Given the description of an element on the screen output the (x, y) to click on. 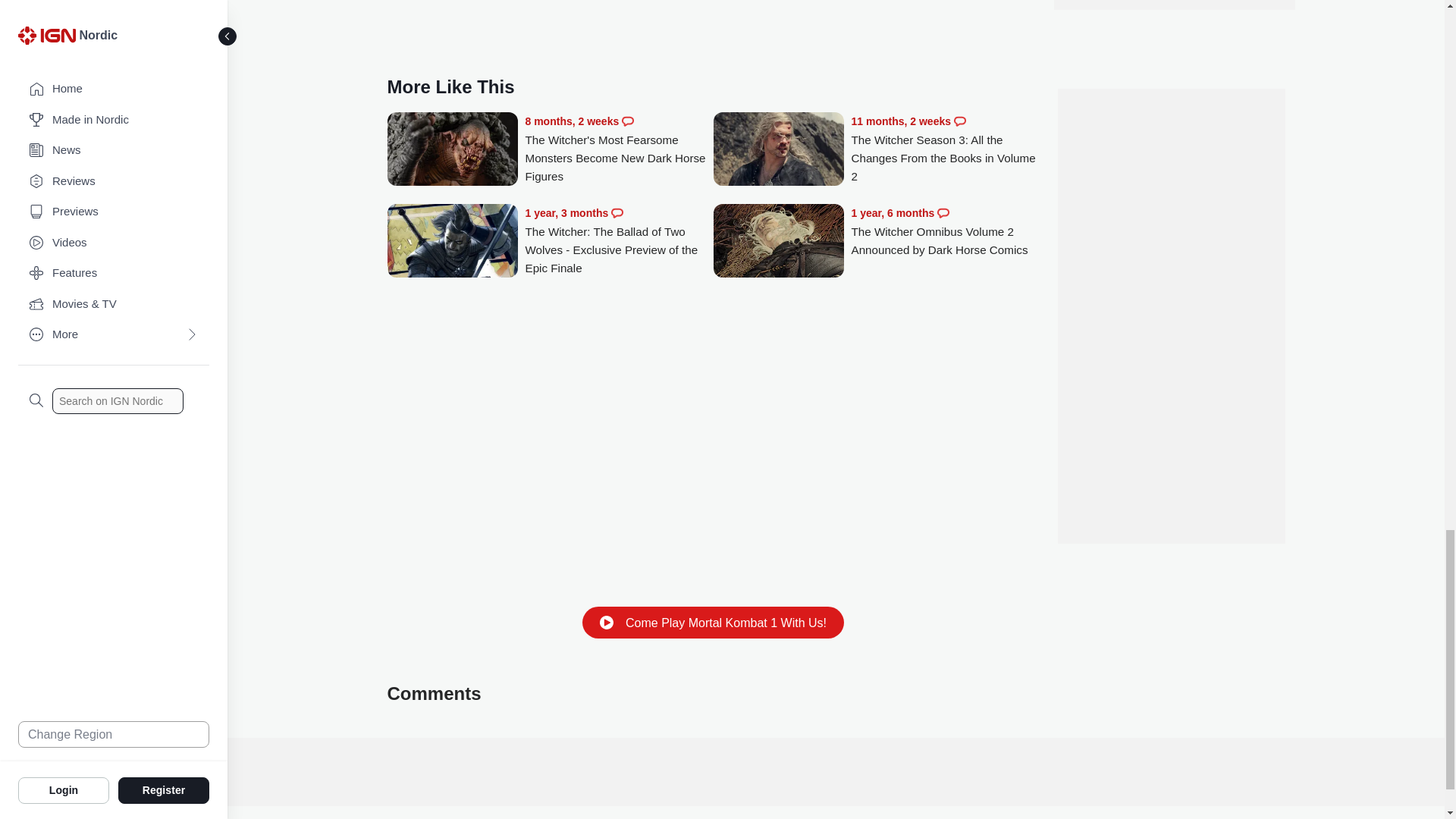
Comments (959, 121)
Comments (617, 213)
Comments (943, 213)
The Witcher Omnibus Volume 2 Announced by Dark Horse Comics (944, 231)
3rd party ad content (1170, 316)
Comments (627, 121)
The Witcher Omnibus Volume 2 Announced by Dark Horse Comics (778, 241)
3rd party ad content (835, 771)
